Given the description of an element on the screen output the (x, y) to click on. 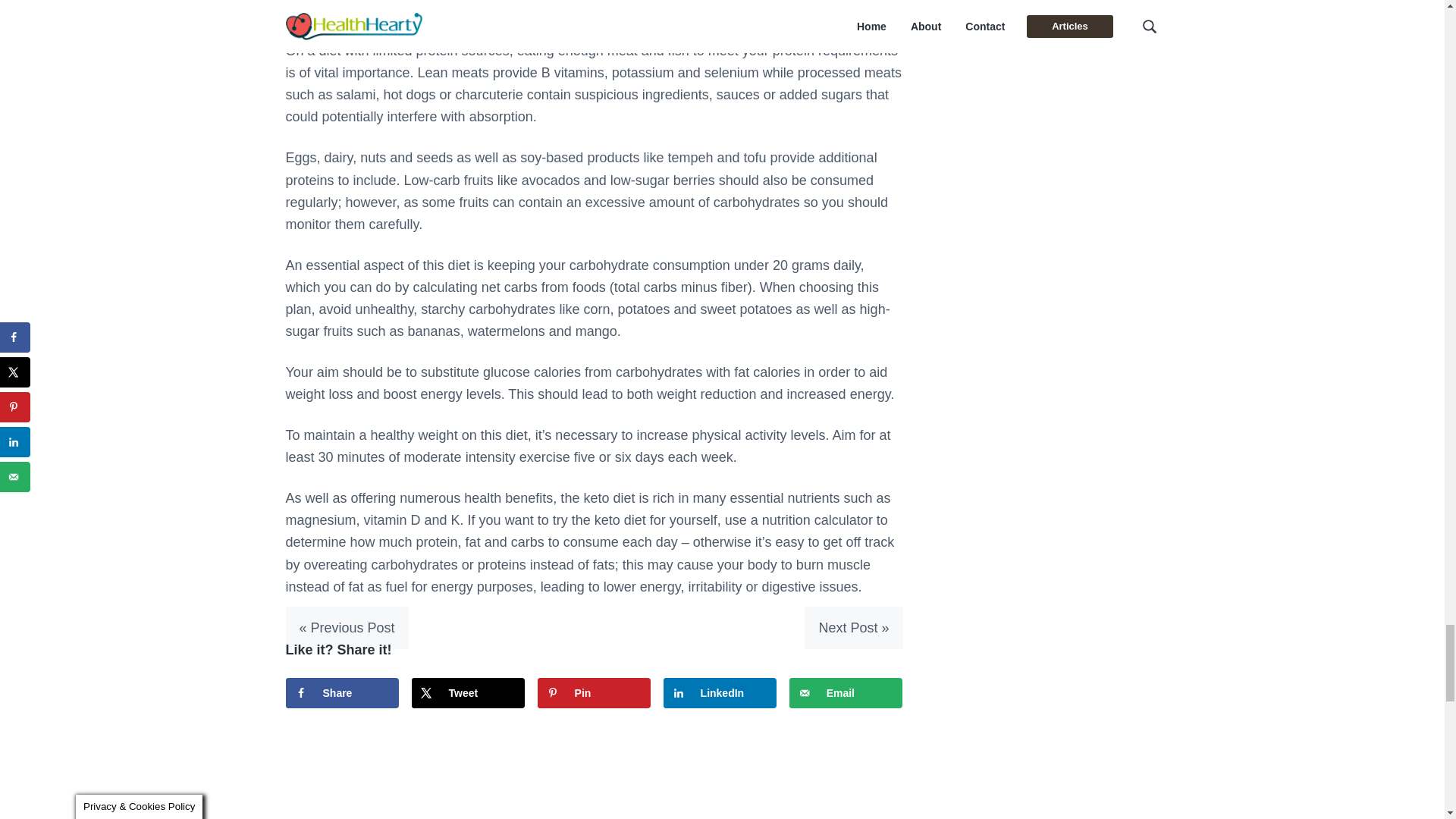
Tweet (468, 693)
Save to Pinterest (593, 693)
Share on LinkedIn (720, 693)
Share on Facebook (341, 693)
Pin (593, 693)
Email (845, 693)
Share (341, 693)
Share on X (468, 693)
LinkedIn (720, 693)
